Given the description of an element on the screen output the (x, y) to click on. 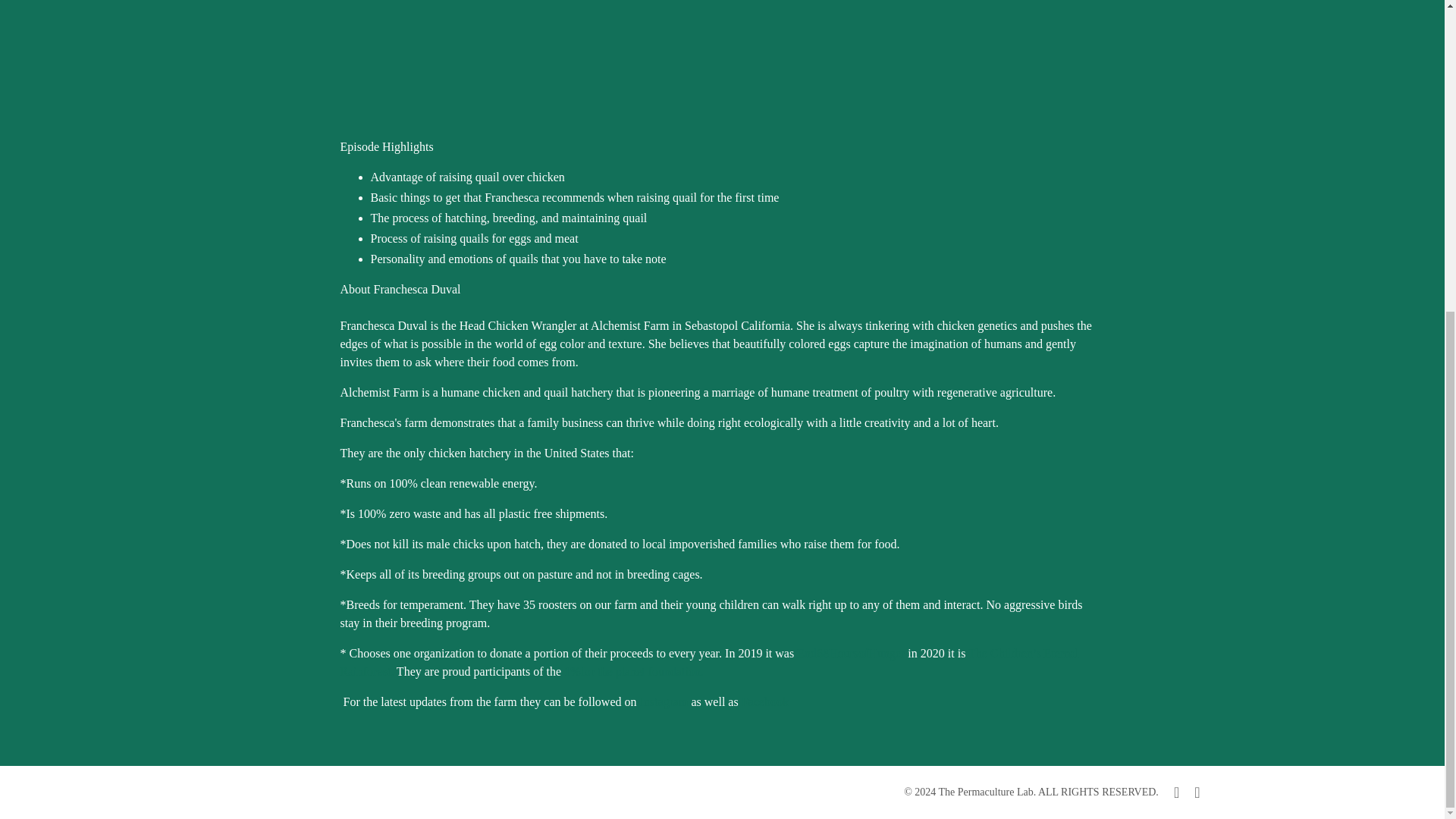
Facebook (765, 701)
Instagram (665, 701)
End68HoursofHunger (850, 653)
